Given the description of an element on the screen output the (x, y) to click on. 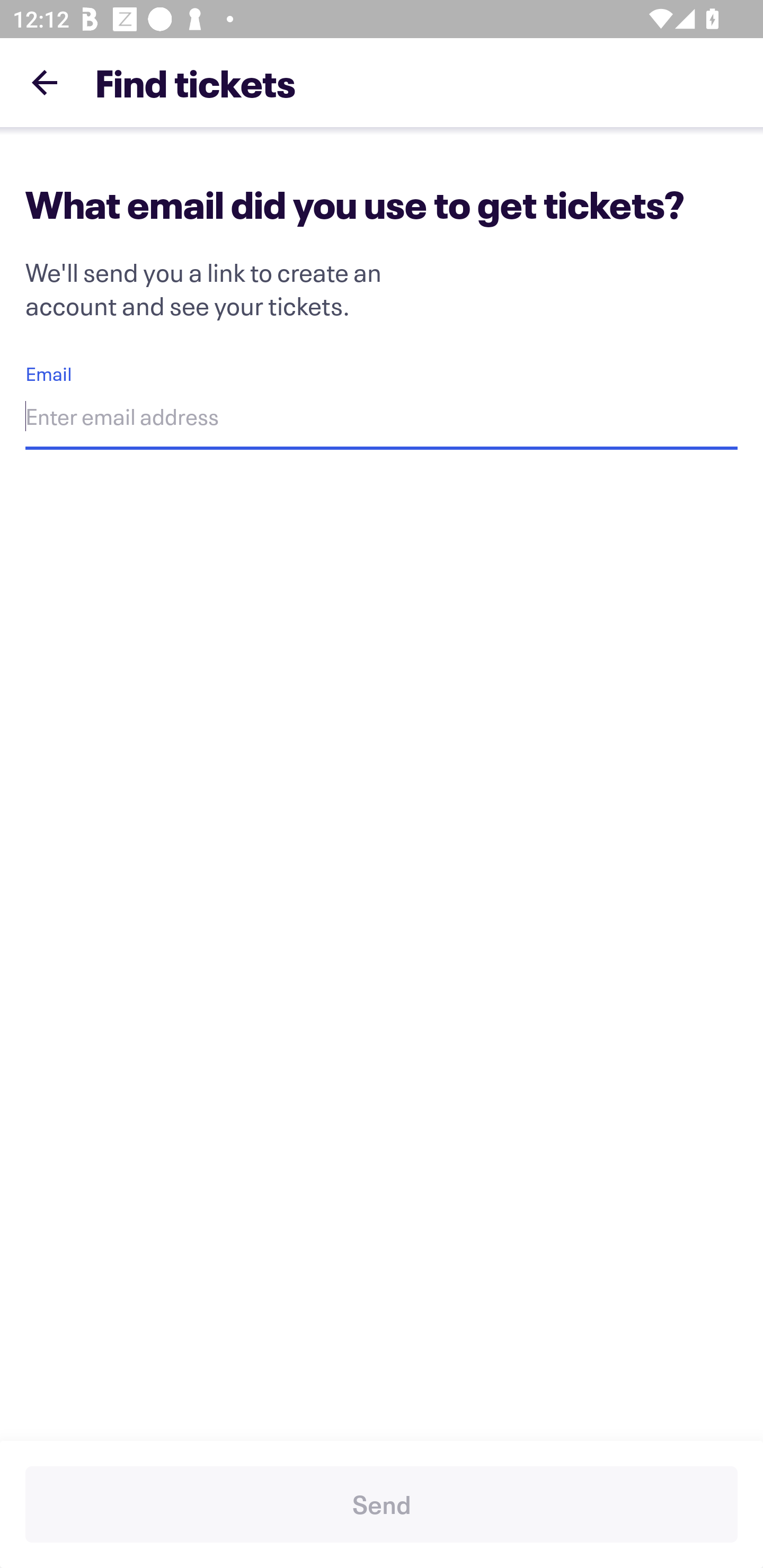
Navigate up (44, 82)
Enter email address (381, 419)
Send (381, 1504)
